Given the description of an element on the screen output the (x, y) to click on. 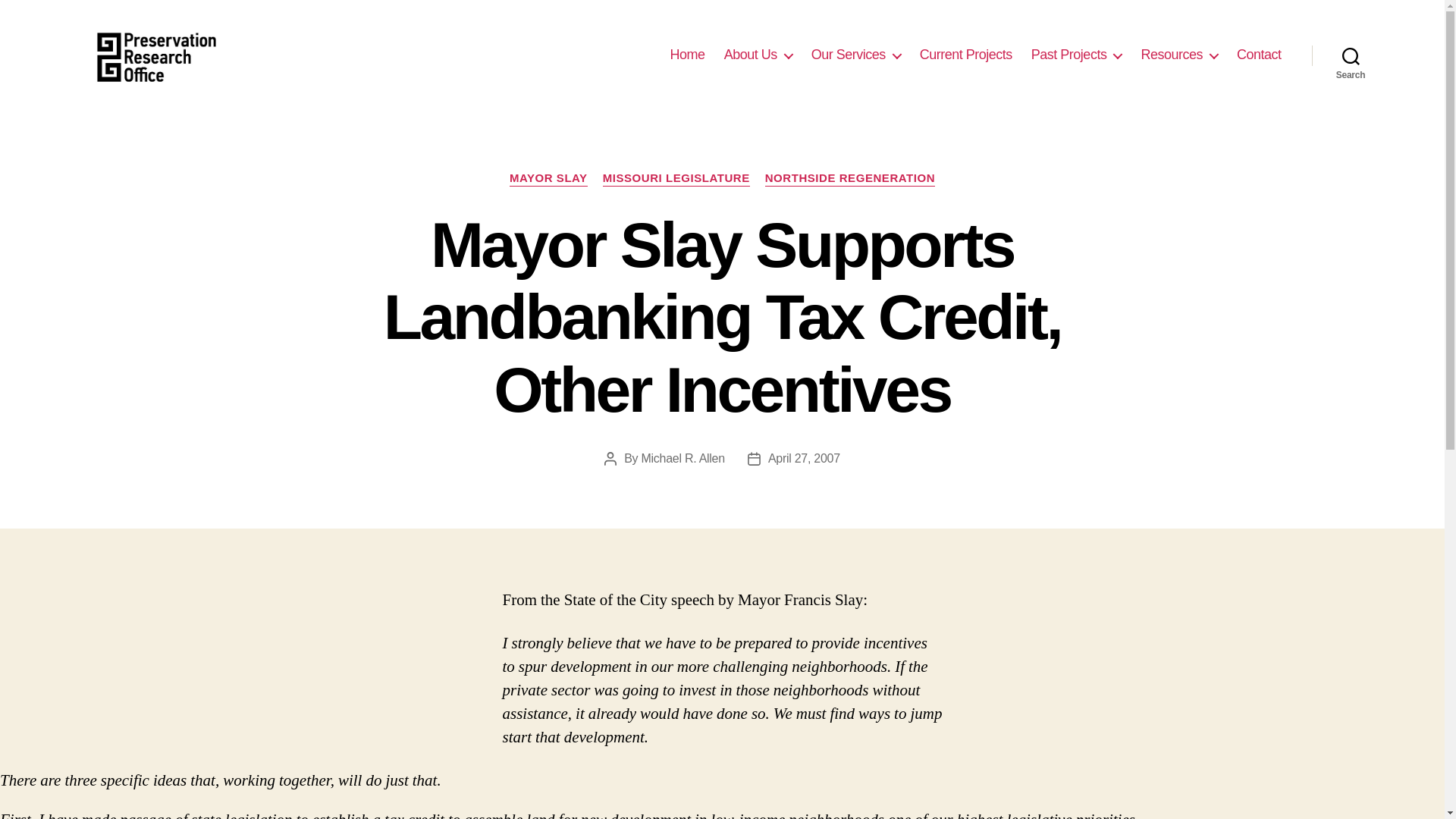
Past Projects (1076, 54)
Our Services (855, 54)
Current Projects (965, 54)
Contact (1258, 54)
Search (1350, 55)
Home (686, 54)
Resources (1178, 54)
About Us (757, 54)
